Given the description of an element on the screen output the (x, y) to click on. 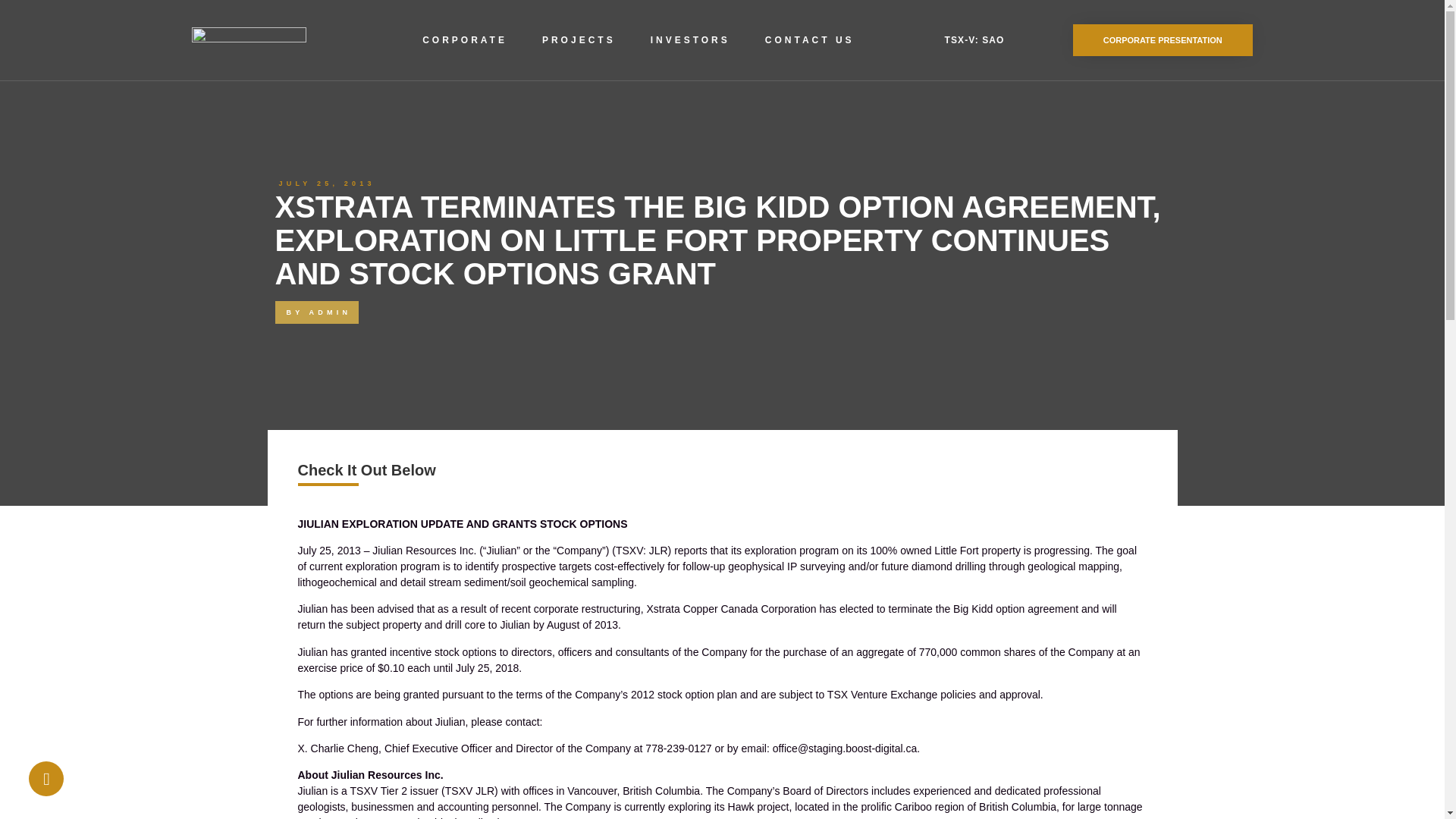
PROJECTS (578, 39)
CORPORATE (464, 39)
CORPORATE PRESENTATION (1162, 40)
INVESTORS (689, 39)
CONTACT US (809, 39)
